Given the description of an element on the screen output the (x, y) to click on. 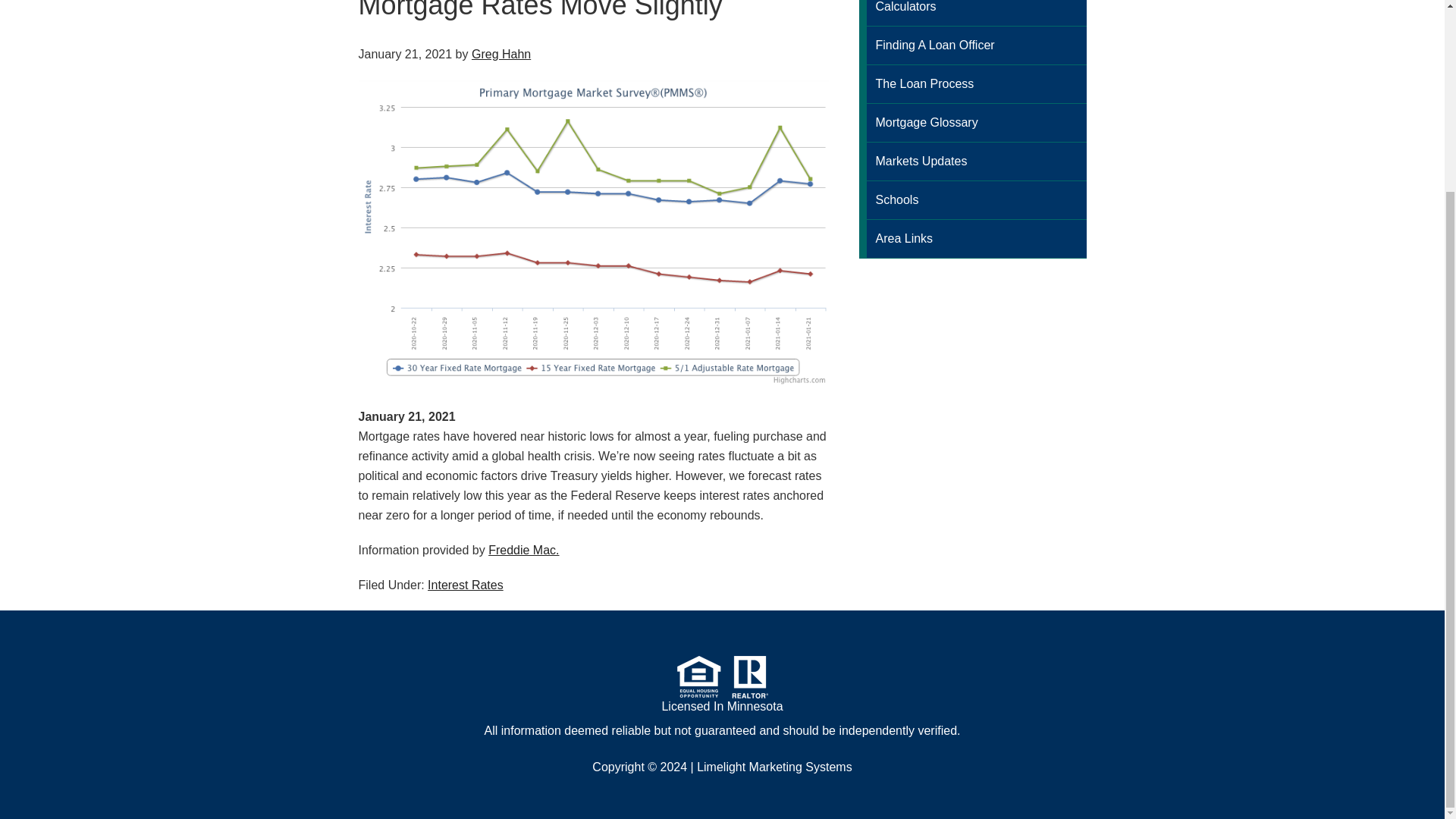
Calculators (972, 13)
Mortgage Glossary (972, 123)
Greg Hahn (501, 53)
Schools (972, 200)
Markets Updates (972, 161)
Interest Rates (465, 584)
Freddie Mac. (523, 549)
Finding A Loan Officer (972, 45)
The Loan Process (972, 84)
Area Links (972, 239)
